Given the description of an element on the screen output the (x, y) to click on. 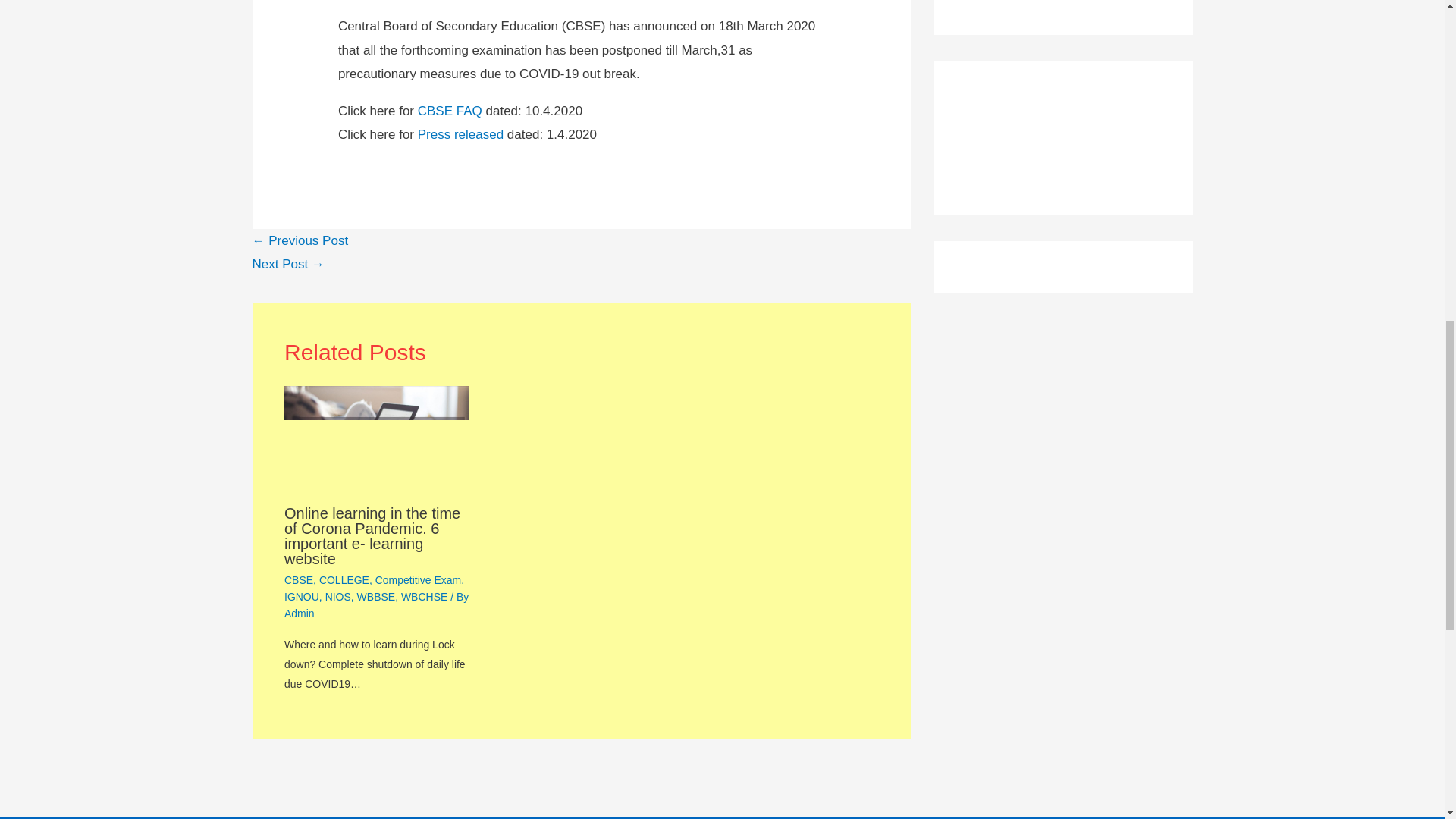
View all posts by Admin (298, 613)
NIOS  examination 2020 postponed due to Corona Pandemic. (287, 264)
